Given the description of an element on the screen output the (x, y) to click on. 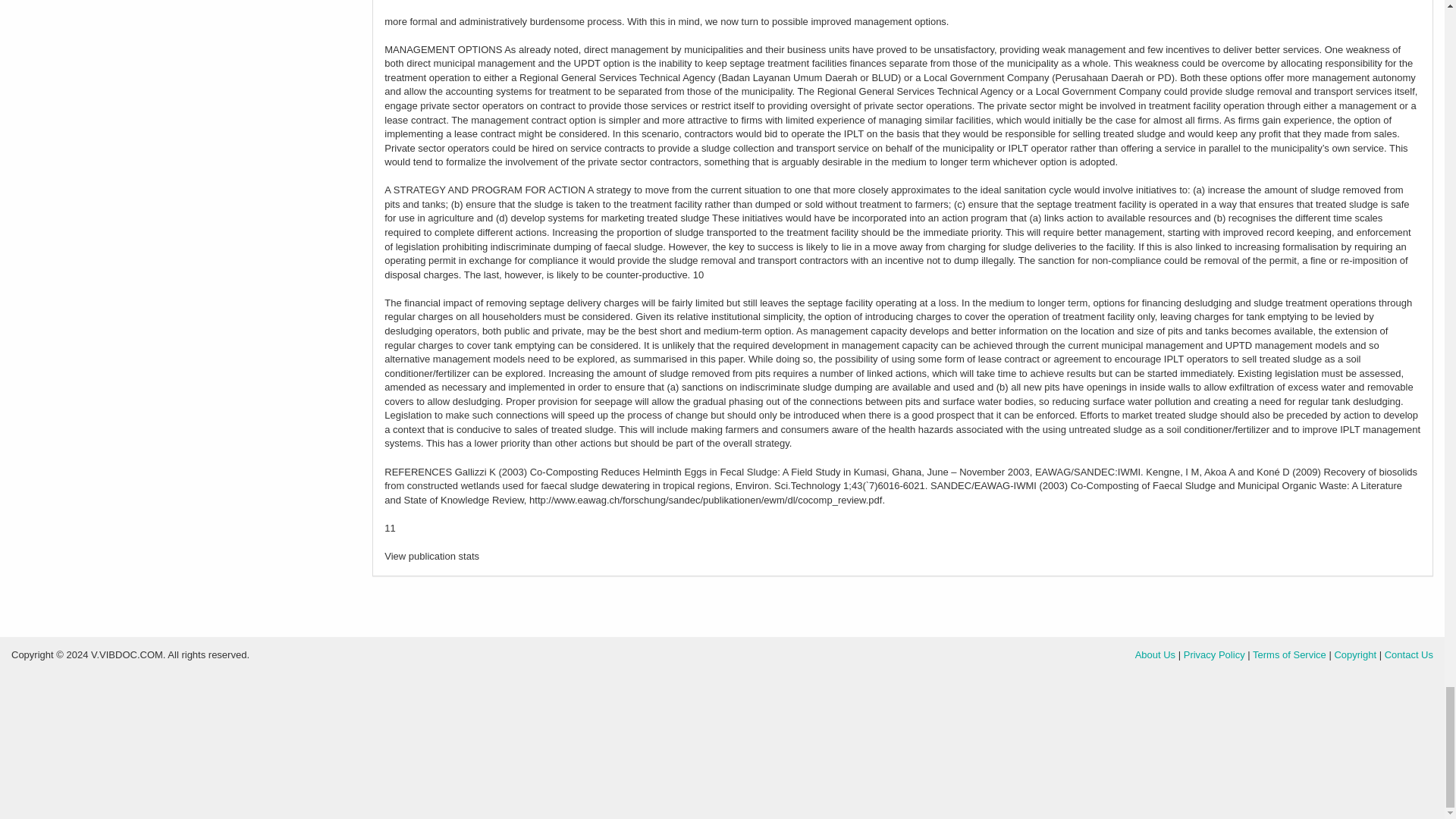
About Us (1154, 654)
Terms of Service (1289, 654)
Copyright (1354, 654)
Contact Us (1408, 654)
Privacy Policy (1213, 654)
